Given the description of an element on the screen output the (x, y) to click on. 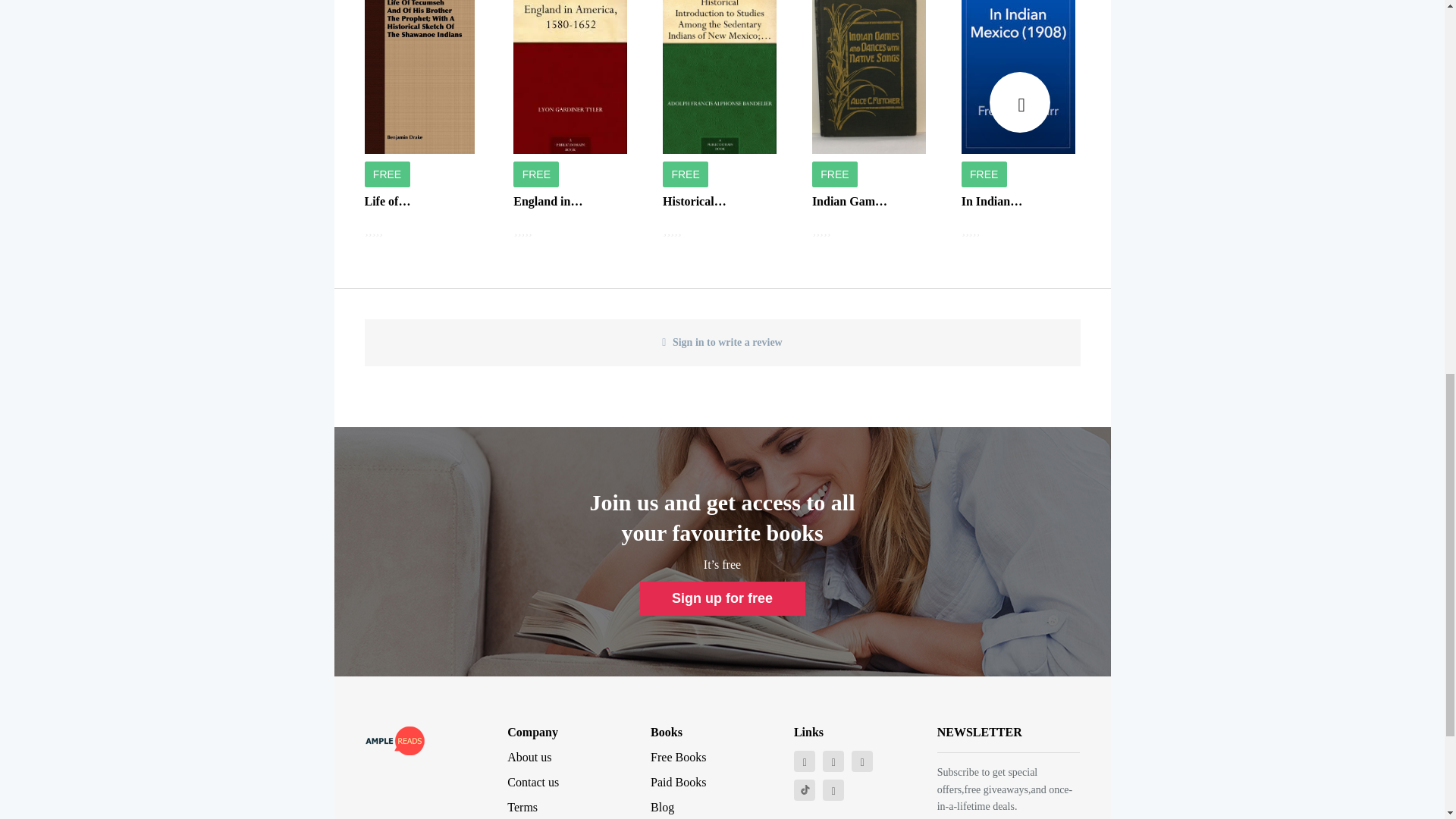
Created with Fabric.js 1.7.22 (804, 789)
